Given the description of an element on the screen output the (x, y) to click on. 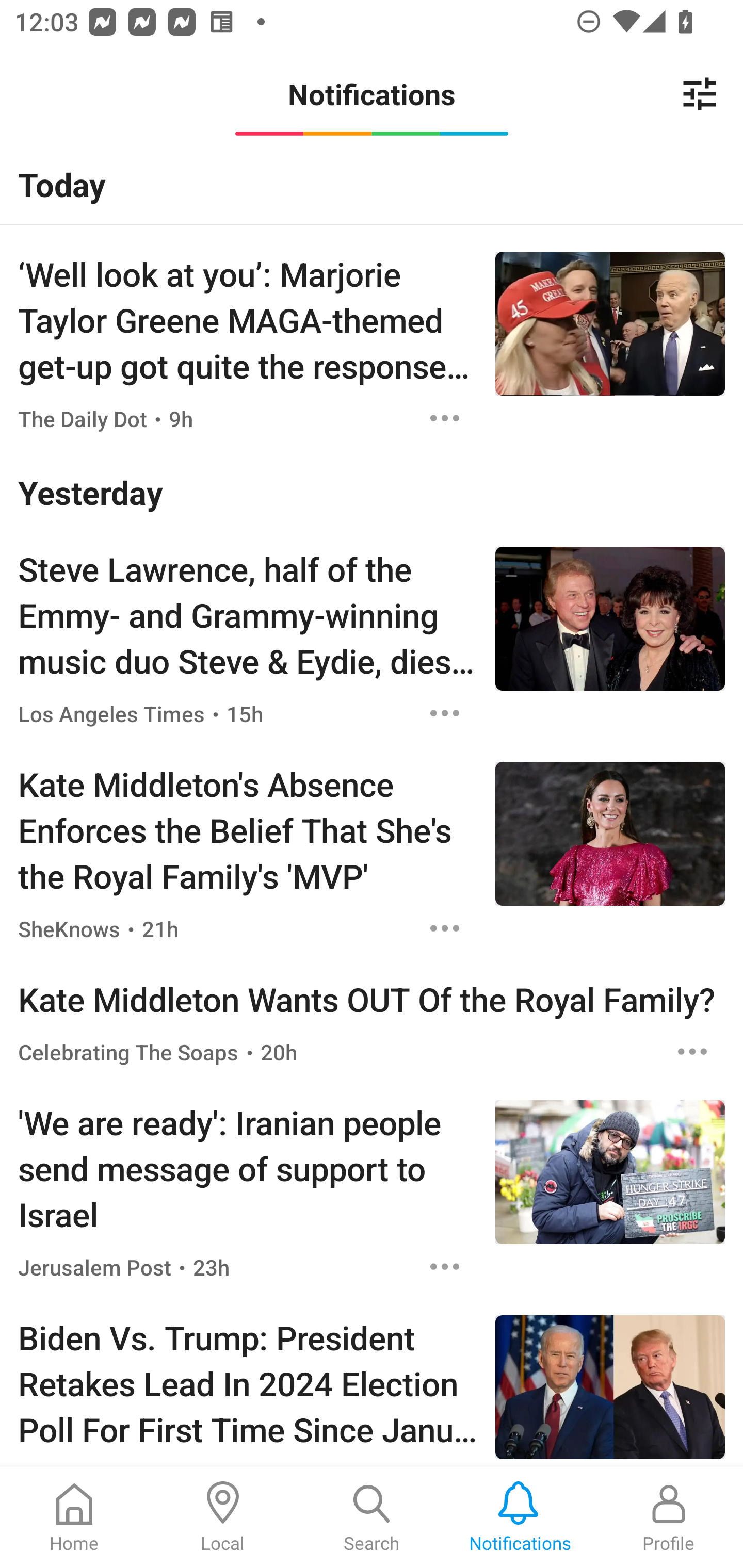
Notification Settings (699, 93)
Options (444, 418)
Yesterday (371, 491)
Options (444, 713)
Options (444, 928)
Options (692, 1052)
Options (444, 1266)
Home (74, 1517)
Local (222, 1517)
Search (371, 1517)
Profile (668, 1517)
